Given the description of an element on the screen output the (x, y) to click on. 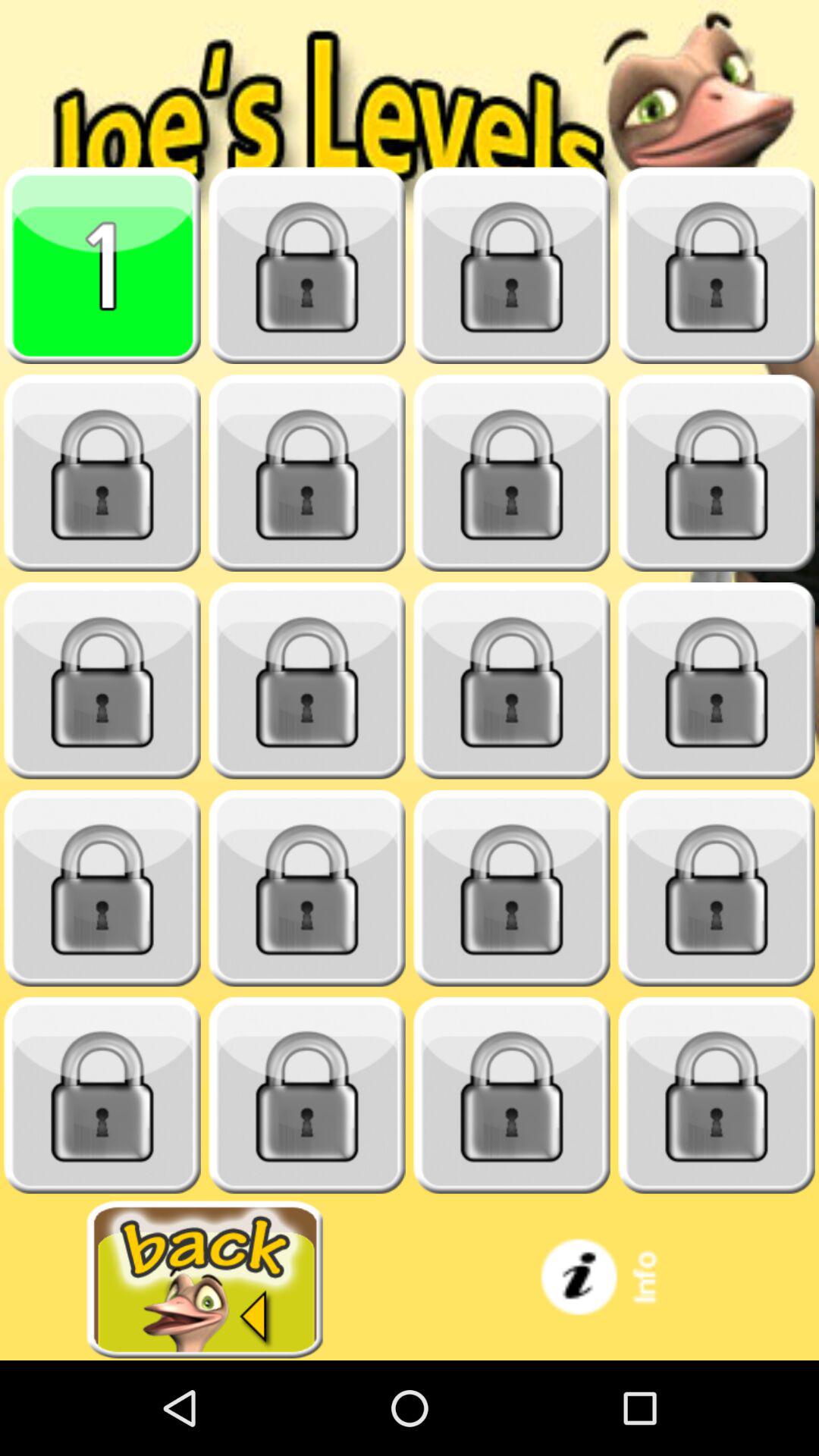
select to unlock (306, 265)
